Given the description of an element on the screen output the (x, y) to click on. 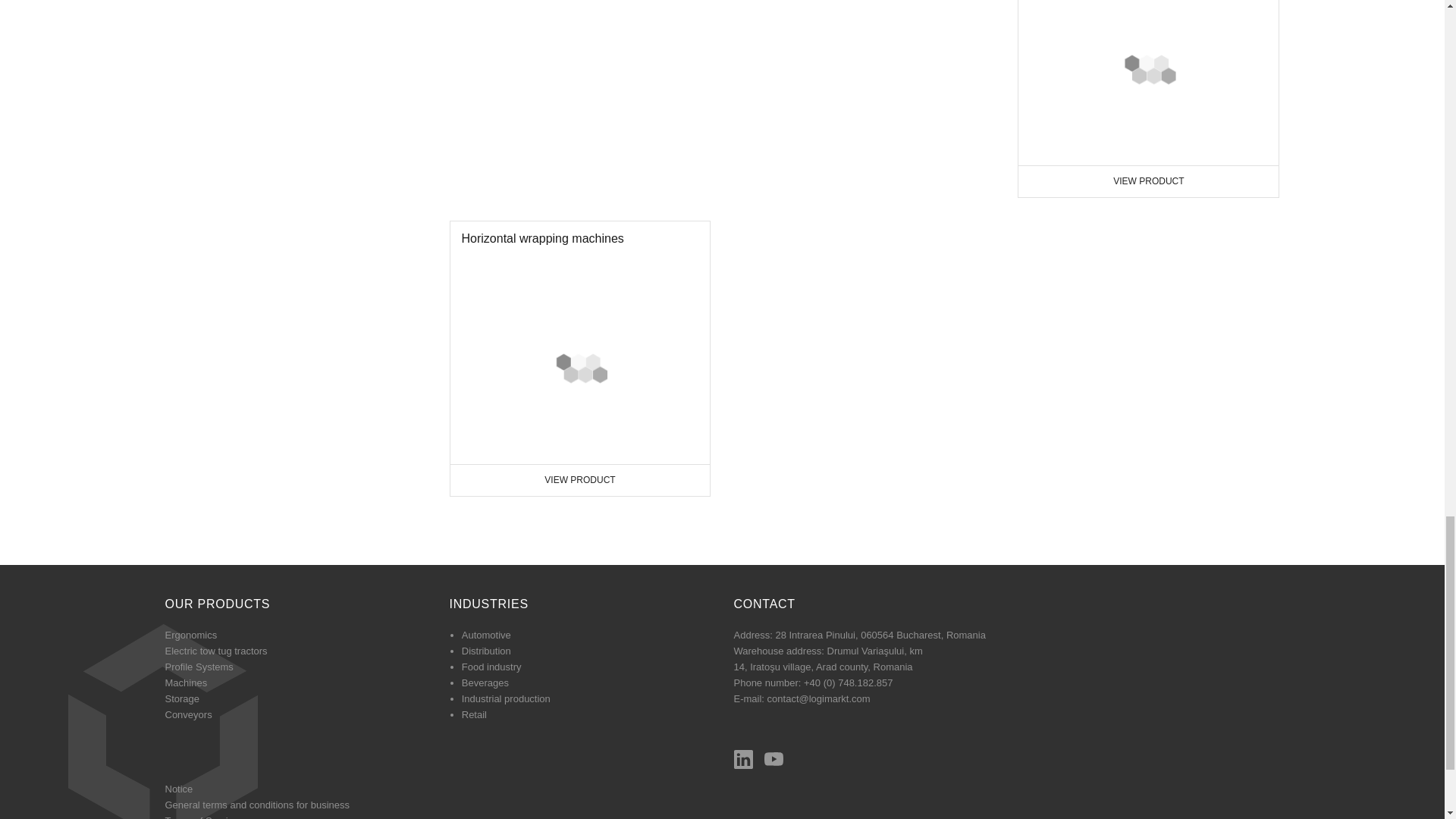
Profile Systems (1148, 99)
Machines (198, 666)
Ergonomics (186, 682)
Electric tow tug tractors (579, 358)
Presa verticala automata pentru deseuri (190, 634)
